Given the description of an element on the screen output the (x, y) to click on. 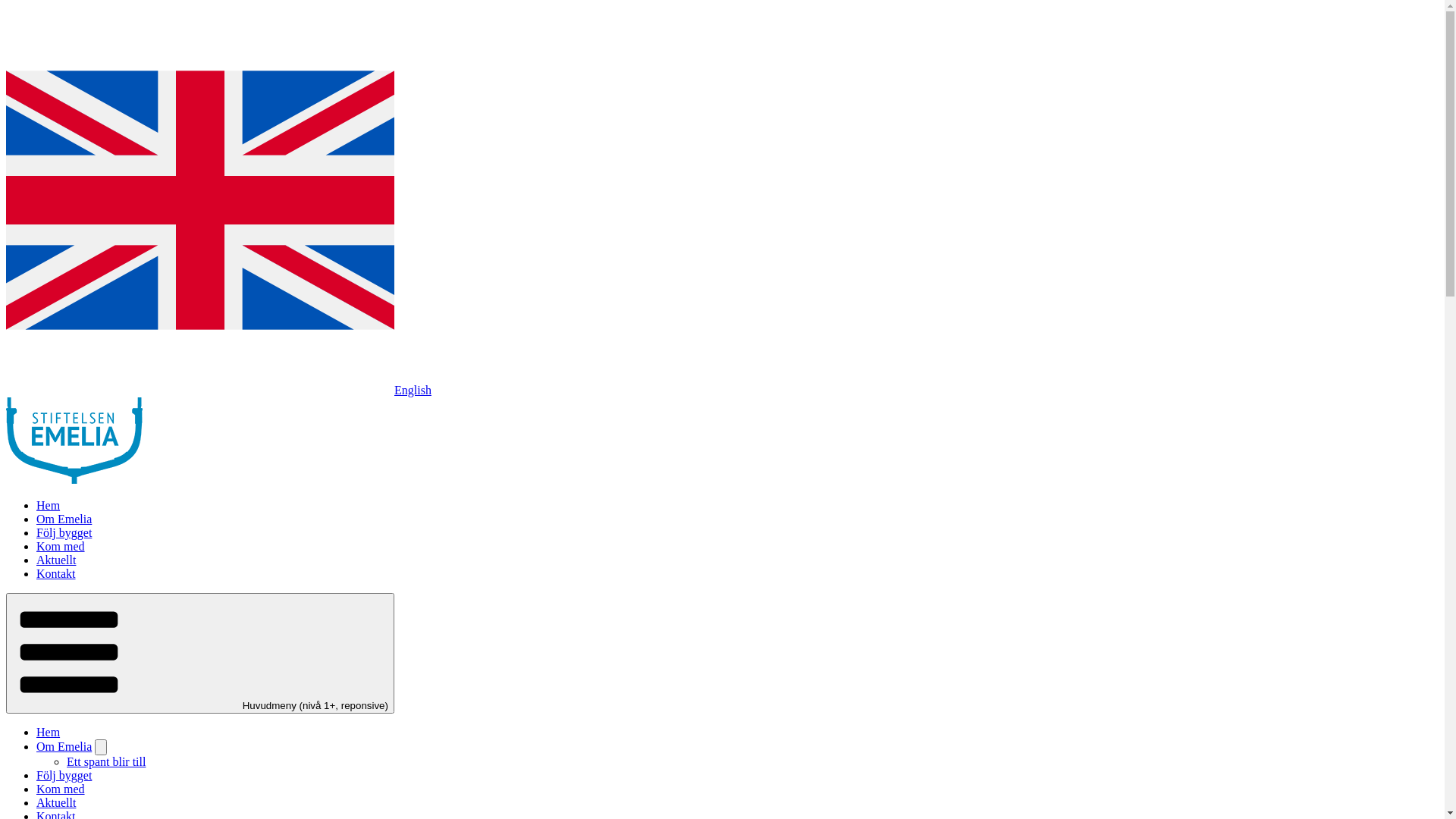
Aktuellt Element type: text (55, 559)
Toggle sub-menu Element type: text (100, 747)
Kom med Element type: text (60, 545)
Ett spant blir till Element type: text (105, 761)
Aktuellt Element type: text (55, 802)
Kom med Element type: text (60, 788)
Kontakt Element type: text (55, 573)
Om Emelia Element type: text (63, 518)
Om Emelia Element type: text (63, 746)
English Element type: text (218, 389)
Hem Element type: hover (74, 479)
Hem Element type: text (47, 504)
Hem Element type: text (47, 731)
